Given the description of an element on the screen output the (x, y) to click on. 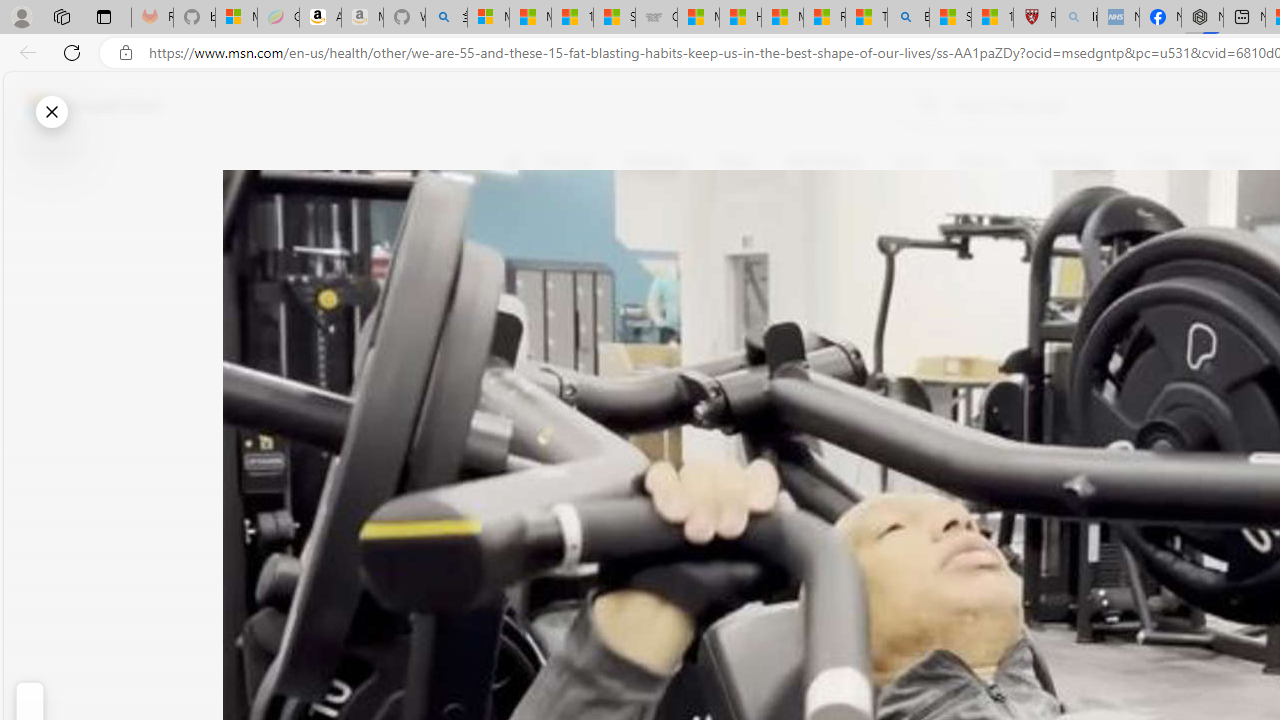
6 Like (525, 244)
How I Got Rid of Microsoft Edge's Unnecessary Features (740, 17)
Stocks - MSN (613, 17)
Science - MSN (950, 17)
Skip to footer (82, 105)
Combat Siege (656, 17)
